Given the description of an element on the screen output the (x, y) to click on. 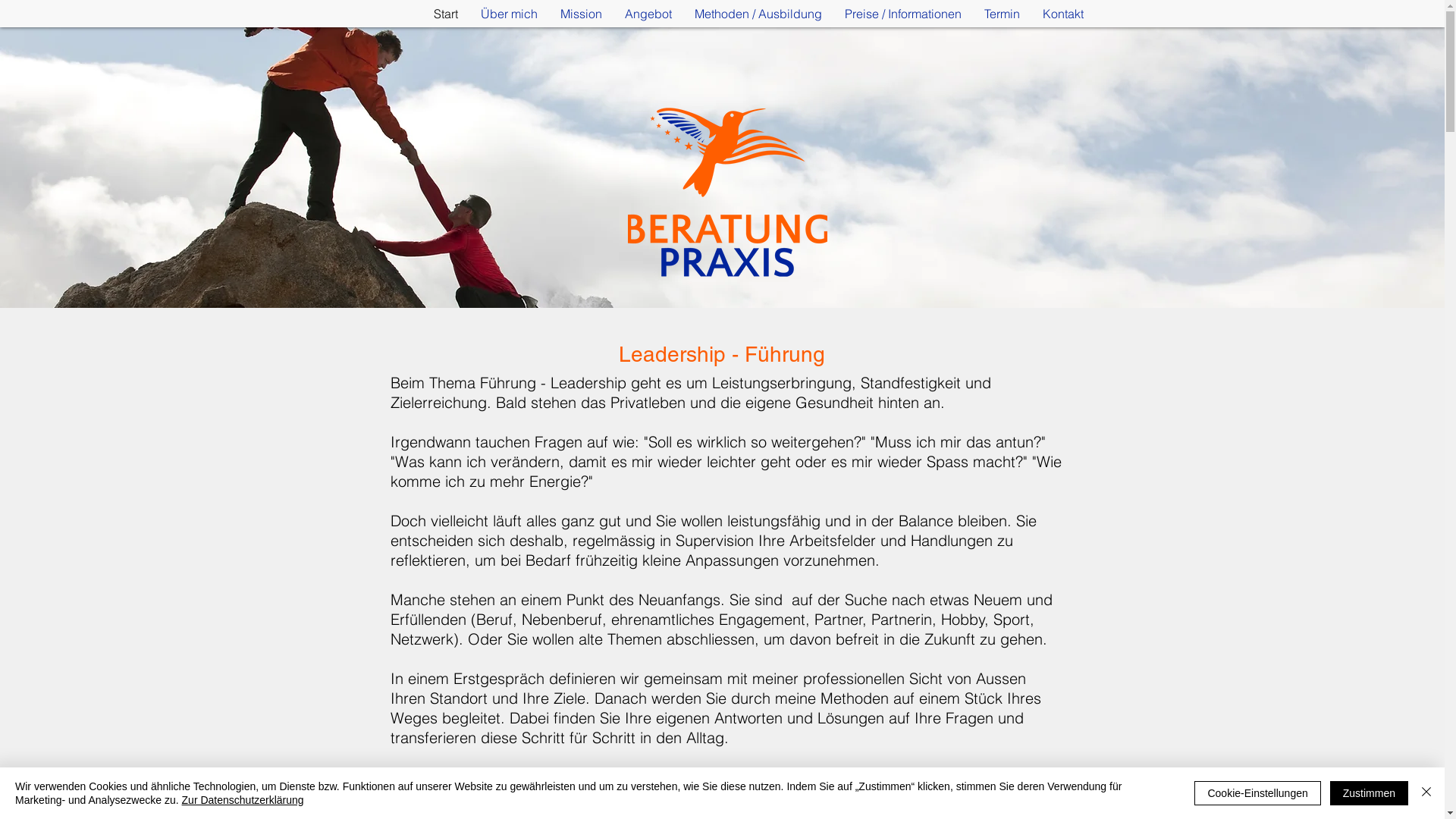
Cookie-Einstellungen Element type: text (1257, 793)
Preise / Informationen Element type: text (902, 13)
Kontakt Element type: text (1063, 13)
Methoden / Ausbildung Element type: text (757, 13)
Zustimmen Element type: text (1369, 793)
Angebot Element type: text (647, 13)
Termin Element type: text (1001, 13)
Mission Element type: text (581, 13)
Start Element type: text (444, 13)
